Given the description of an element on the screen output the (x, y) to click on. 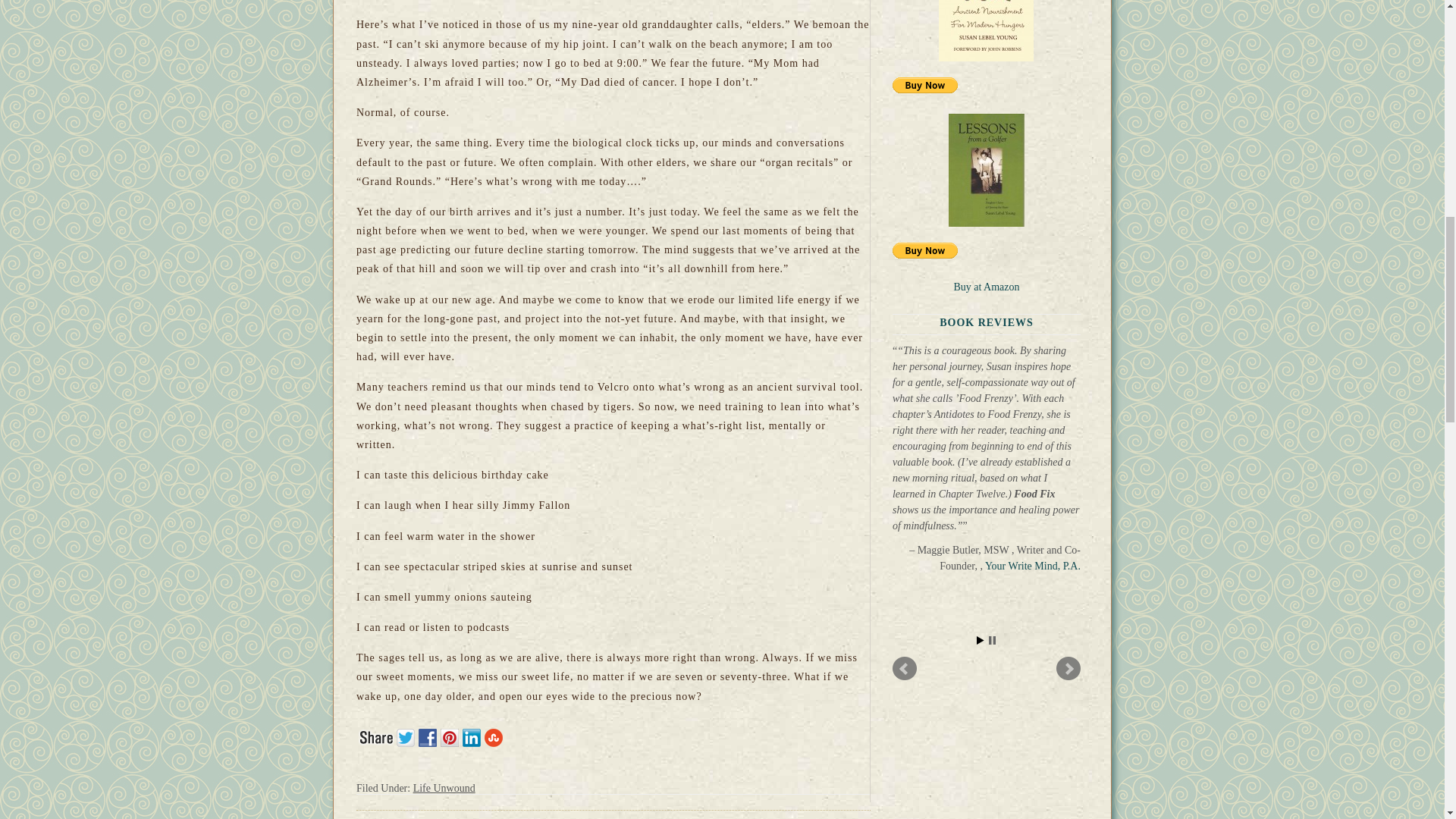
Pinterest (452, 735)
Life Unwound (444, 787)
Linkedin (473, 735)
StumbleUpon (495, 735)
Twitter (407, 735)
Facebook (430, 735)
